Given the description of an element on the screen output the (x, y) to click on. 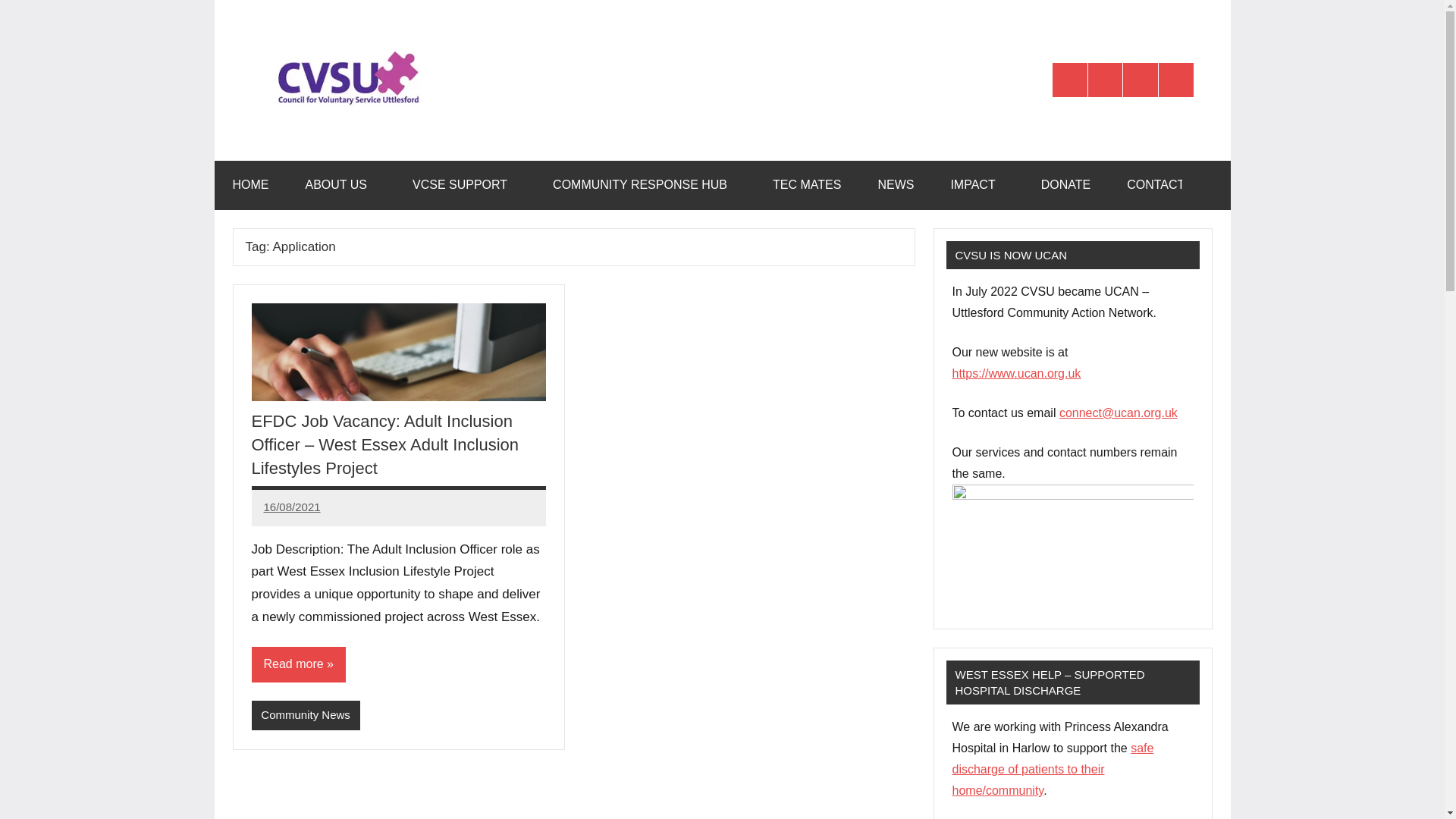
COMMUNITY RESPONSE HUB (644, 184)
DONATE (1065, 184)
VCSE SUPPORT (464, 184)
IMPACT (976, 184)
Search (1205, 184)
HOME (250, 184)
feed (1175, 80)
Facebook (1104, 80)
Twitter (1069, 80)
TEC MATES (806, 184)
